Given the description of an element on the screen output the (x, y) to click on. 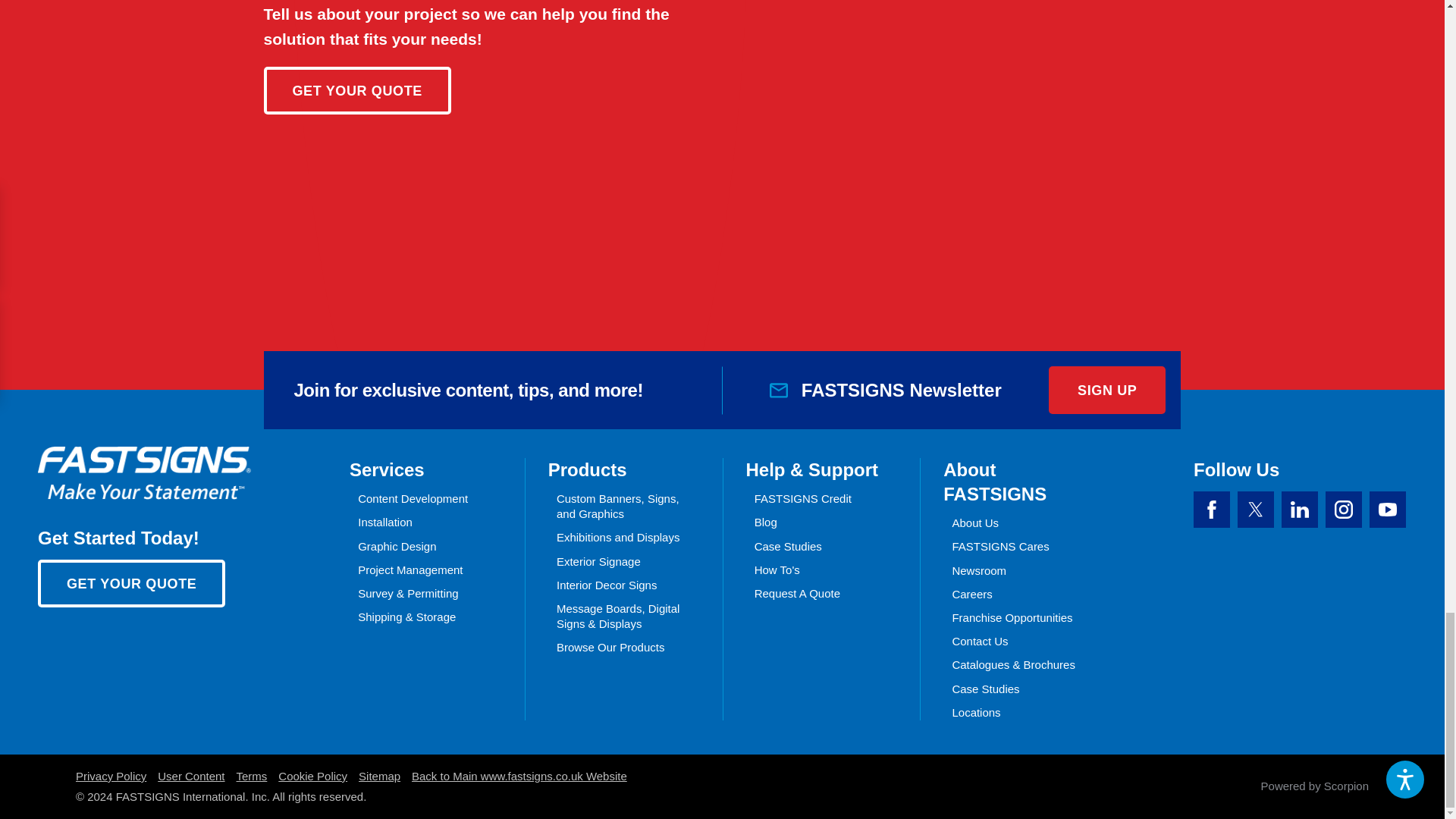
YouTube (1388, 509)
Twitter (1255, 509)
Instagram (1342, 509)
Facebook (1211, 509)
LinkedIn (1299, 509)
